Given the description of an element on the screen output the (x, y) to click on. 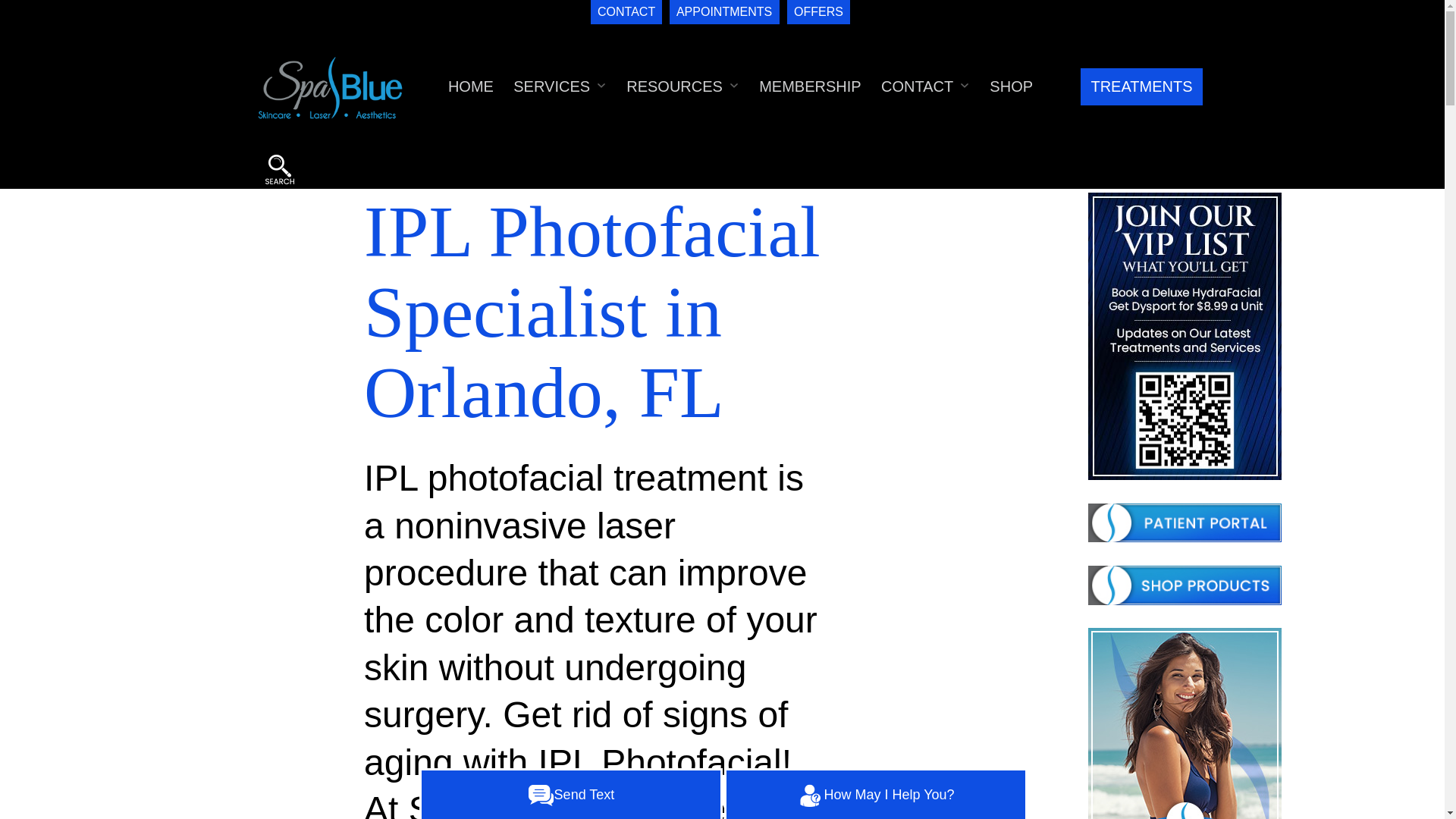
HOME (470, 86)
APPOINTMENTS (723, 12)
CONTACT (626, 12)
SERVICES (551, 86)
OFFERS (818, 12)
Med Spa Offers in Orlando, FL (1184, 723)
